Given the description of an element on the screen output the (x, y) to click on. 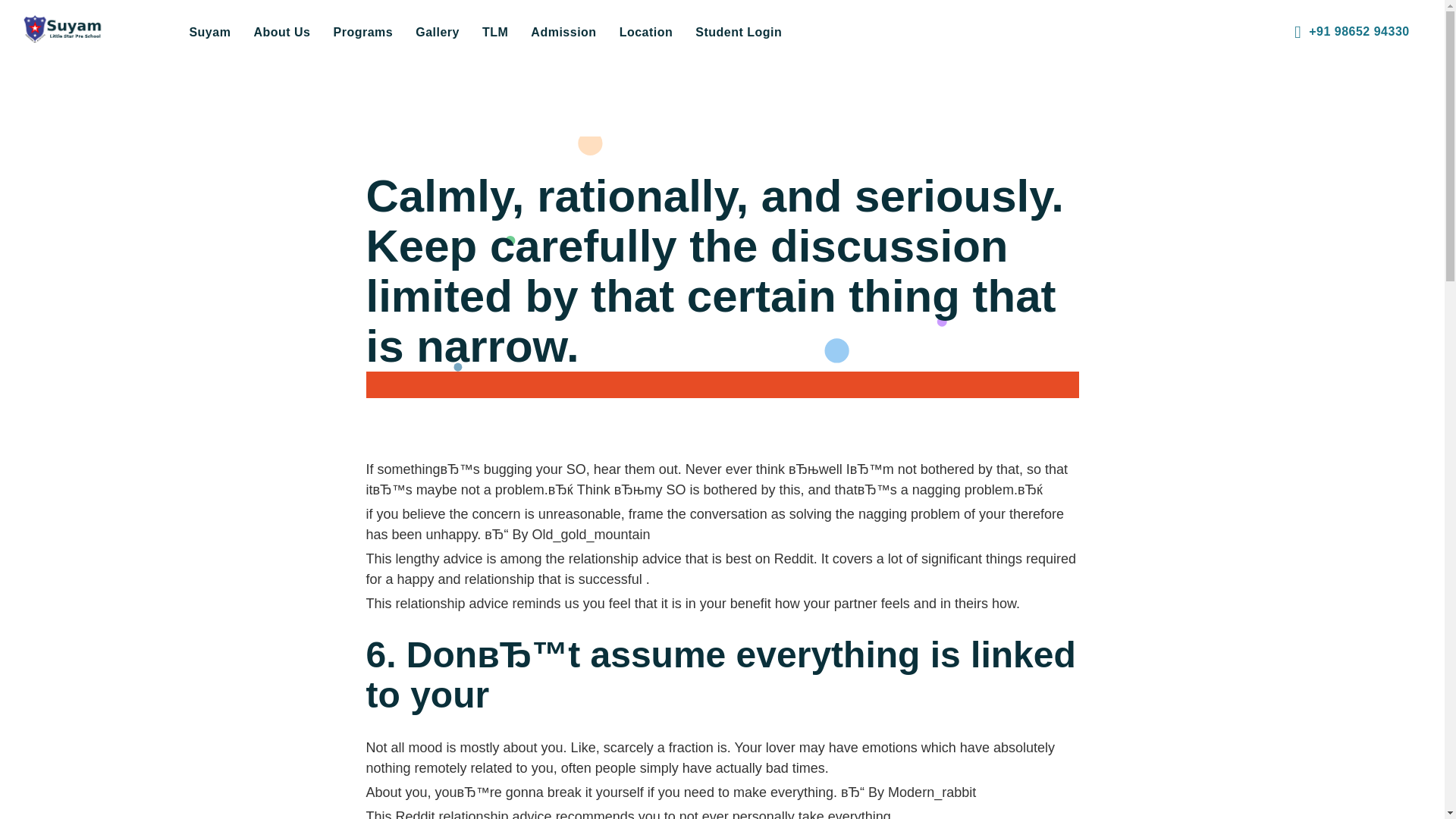
Suyam (209, 32)
About Us (281, 32)
TLM (494, 32)
Location (646, 32)
Student Login (738, 32)
Admission (563, 32)
Gallery (437, 32)
Programs (362, 32)
